Given the description of an element on the screen output the (x, y) to click on. 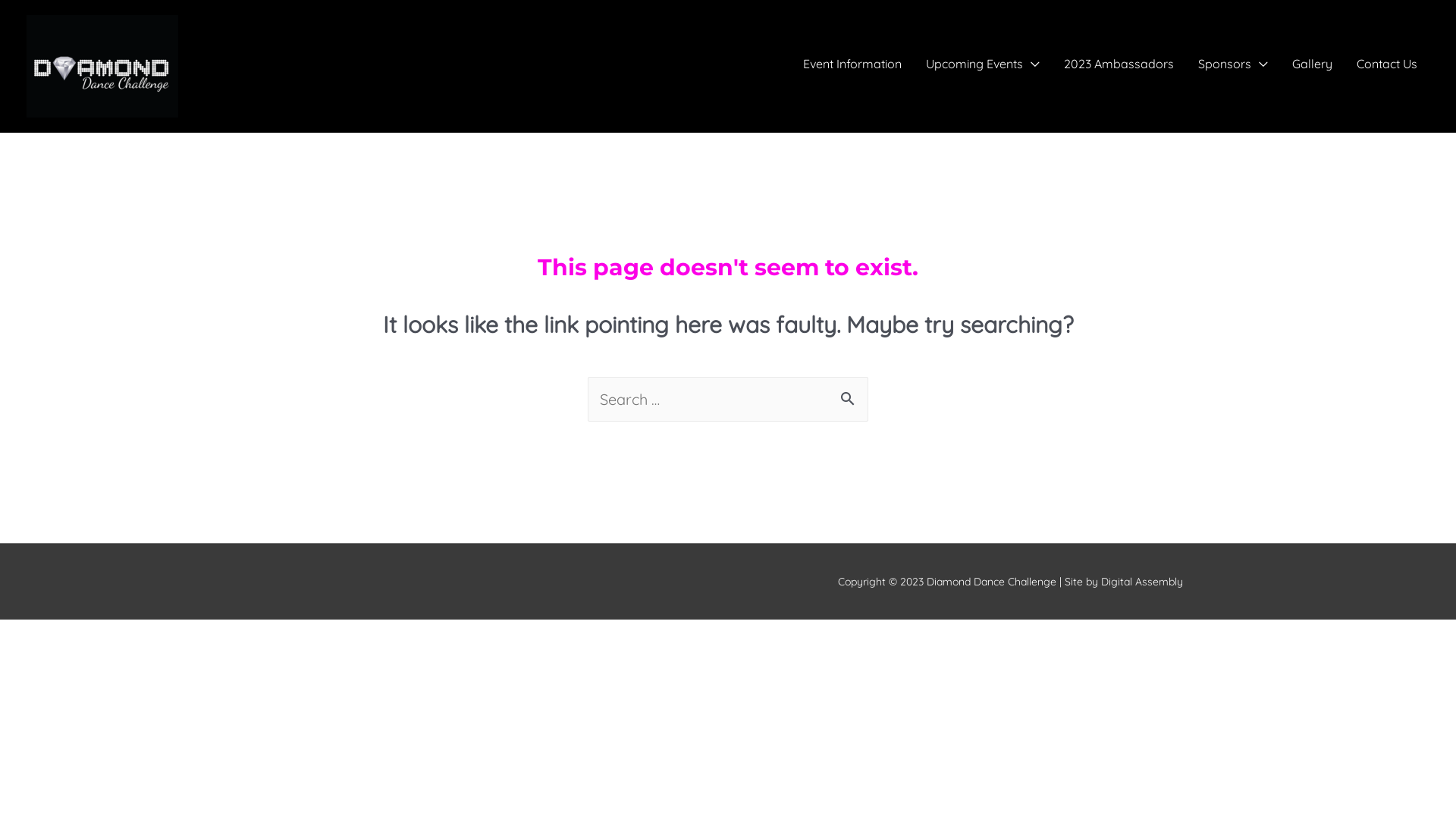
Upcoming Events Element type: text (982, 61)
Search Element type: text (851, 400)
2023 Ambassadors Element type: text (1118, 61)
Sponsors Element type: text (1233, 61)
Event Information Element type: text (851, 61)
Gallery Element type: text (1312, 61)
Contact Us Element type: text (1386, 61)
